Given the description of an element on the screen output the (x, y) to click on. 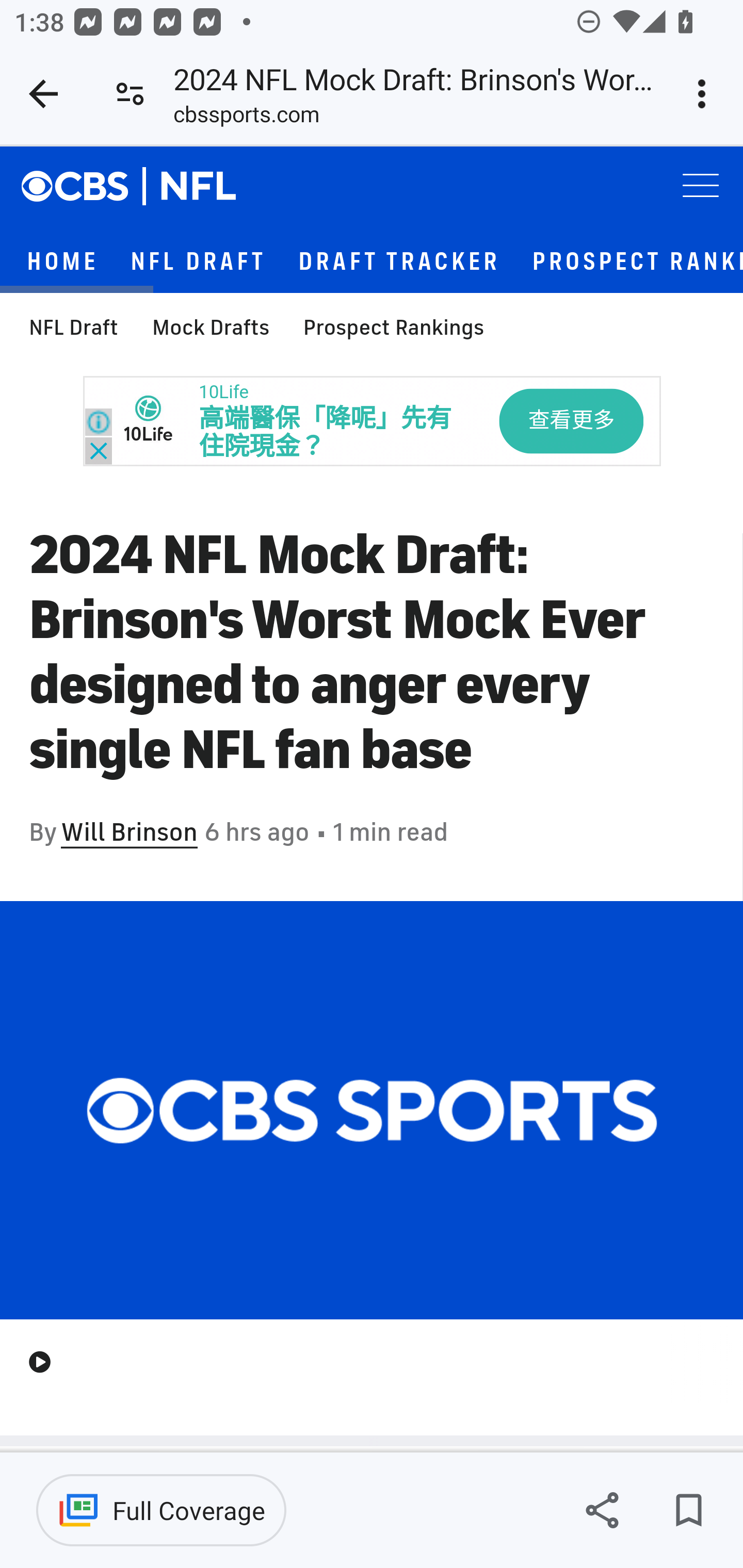
Close tab (43, 93)
Customize and control Google Chrome (705, 93)
Connection is secure (129, 93)
cbssports.com (246, 117)
 (85, 186)
 (199, 186)
HOME (61, 263)
NFL DRAFT (198, 263)
DRAFT TRACKER (399, 263)
PROSPECT RANKINGS (637, 263)
NFL Draft (73, 328)
Mock Drafts (211, 328)
Prospect Rankings (393, 328)
10Life (223, 393)
查看更多 (571, 422)
高端醫保「降呢」先有 住院現金？ 高端醫保「降呢」先有 住院現金？ (325, 434)
Will Brinson (128, 832)
Full Coverage (161, 1509)
Share (601, 1510)
Save for later (688, 1510)
